Given the description of an element on the screen output the (x, y) to click on. 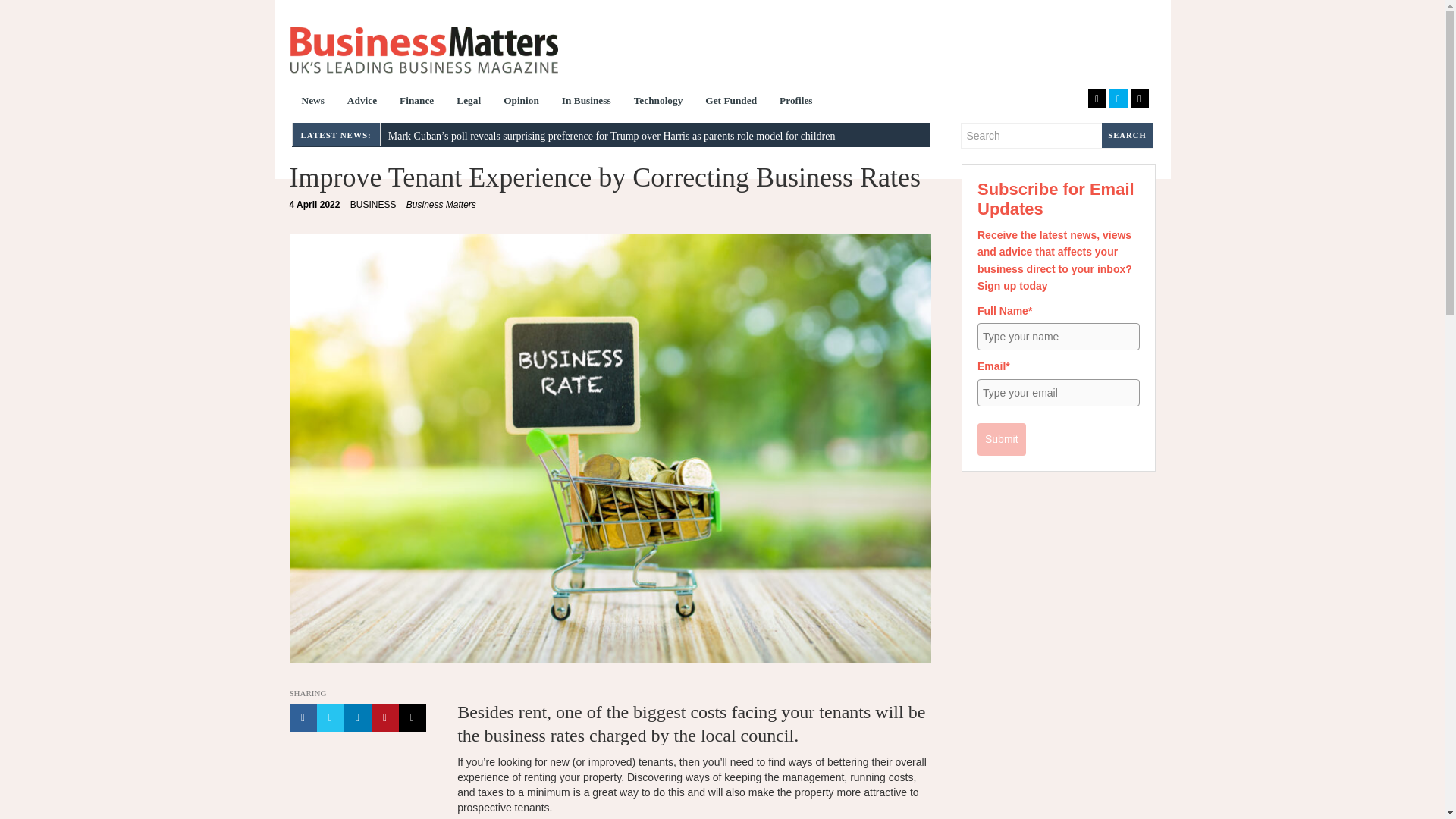
Technology (658, 101)
News (314, 204)
Legal (311, 101)
Business Matters (468, 101)
Profiles (441, 204)
Business Matters (796, 101)
Advice (423, 50)
BUSINESS (362, 101)
Finance (373, 204)
